Given the description of an element on the screen output the (x, y) to click on. 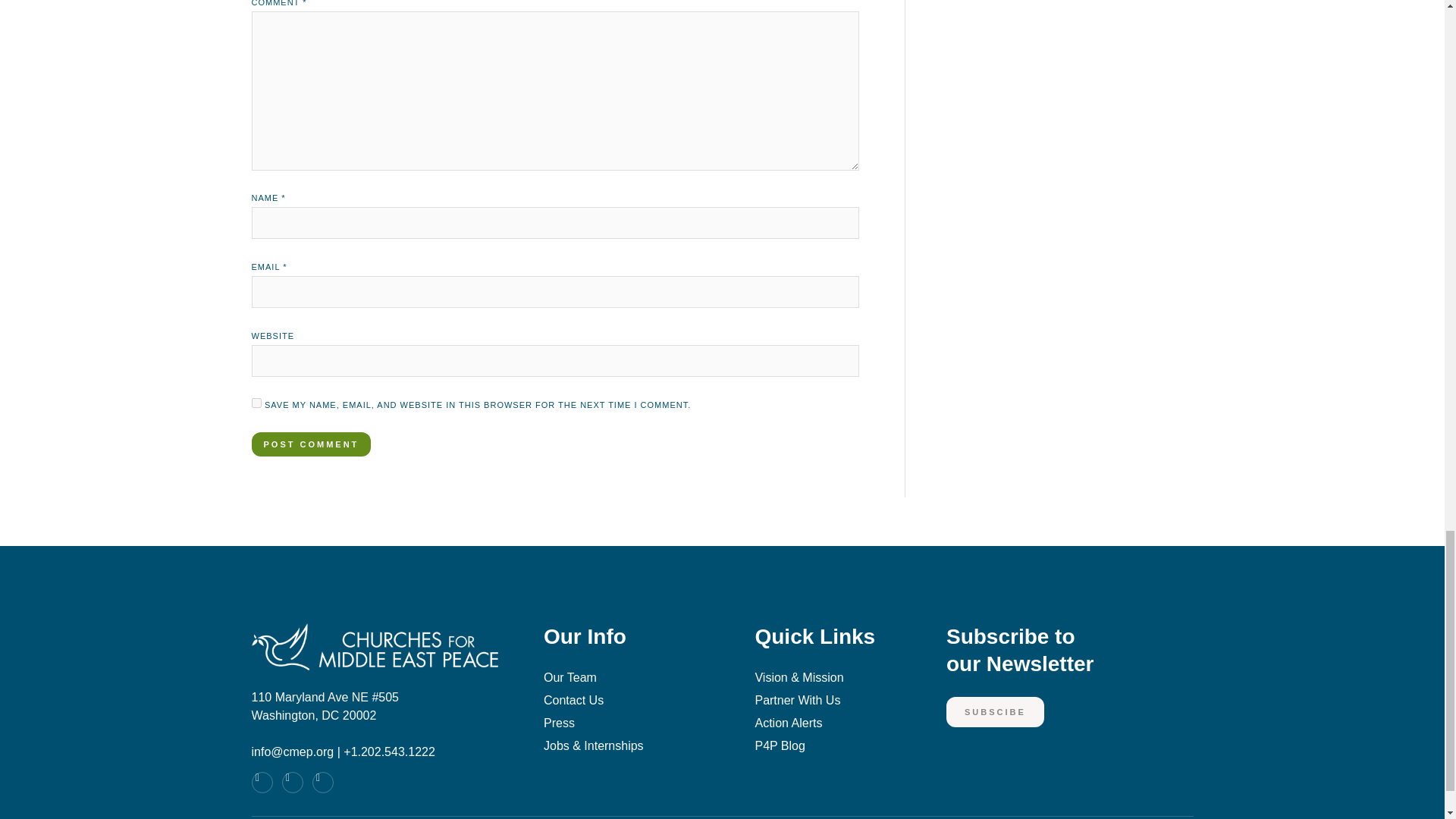
Post Comment (311, 444)
SUBSCIBE (994, 712)
yes (1069, 659)
Our Info (256, 402)
Quick Links (626, 646)
